Given the description of an element on the screen output the (x, y) to click on. 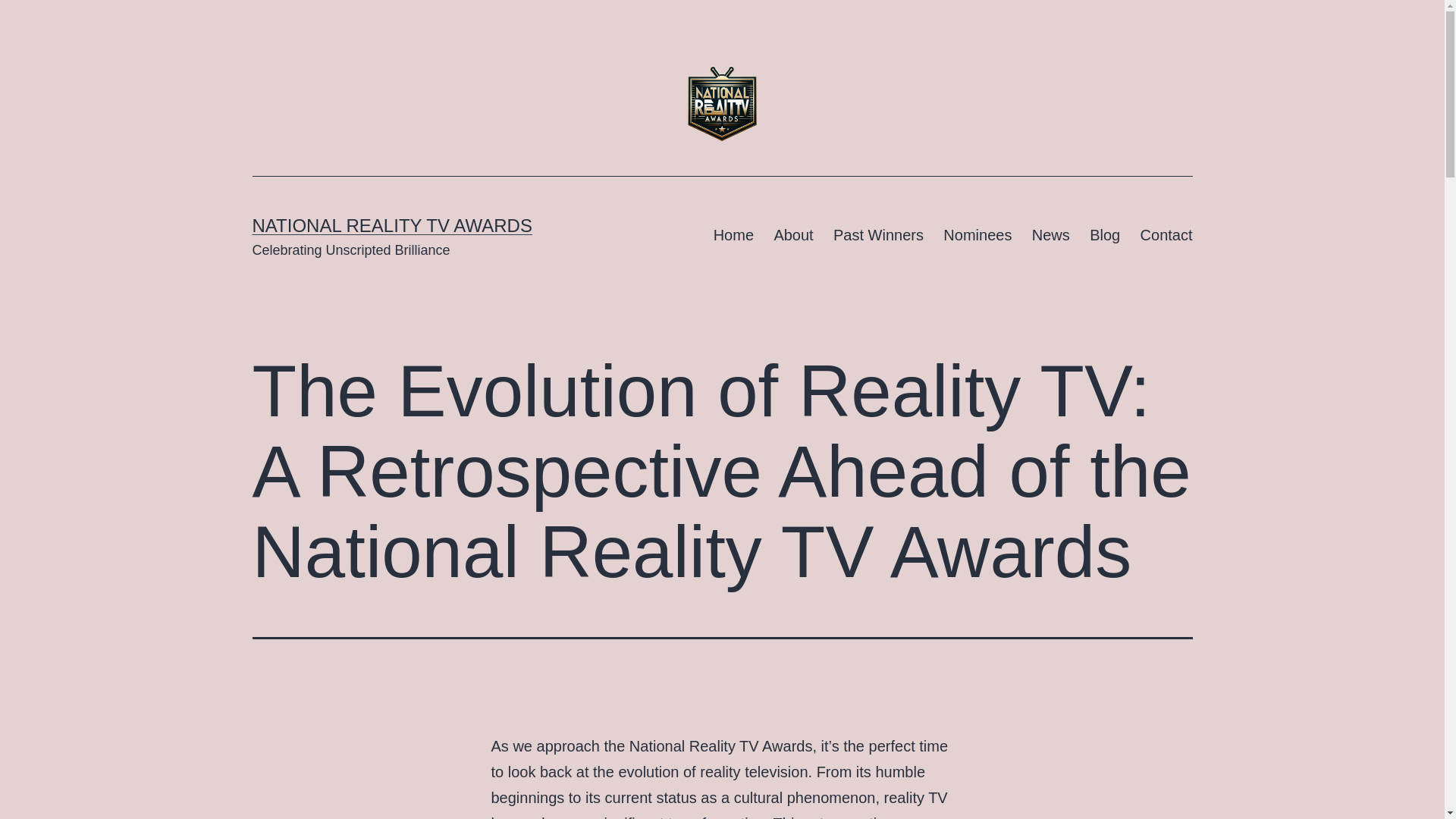
Home (732, 235)
Past Winners (878, 235)
About (793, 235)
Contact (1165, 235)
NATIONAL REALITY TV AWARDS (391, 225)
Blog (1104, 235)
Nominees (977, 235)
News (1051, 235)
